Given the description of an element on the screen output the (x, y) to click on. 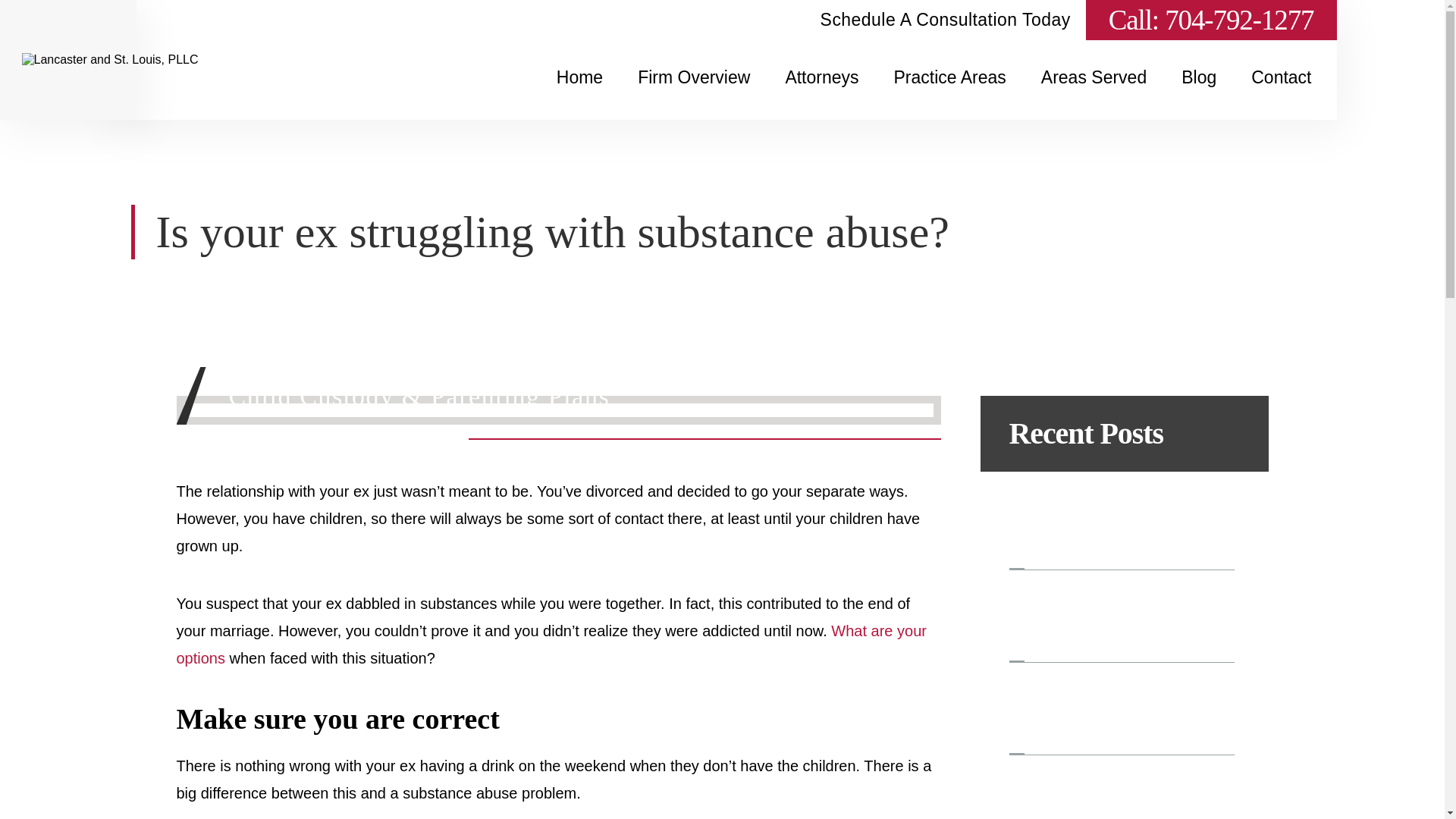
Practice Areas (949, 94)
Twitter (731, 19)
Home (579, 94)
facebook (686, 19)
Blog (1198, 94)
Areas Served (1094, 94)
704-792-1277 (1238, 20)
Firm Overview (693, 94)
Attorneys (821, 94)
Contact (1280, 94)
